Given the description of an element on the screen output the (x, y) to click on. 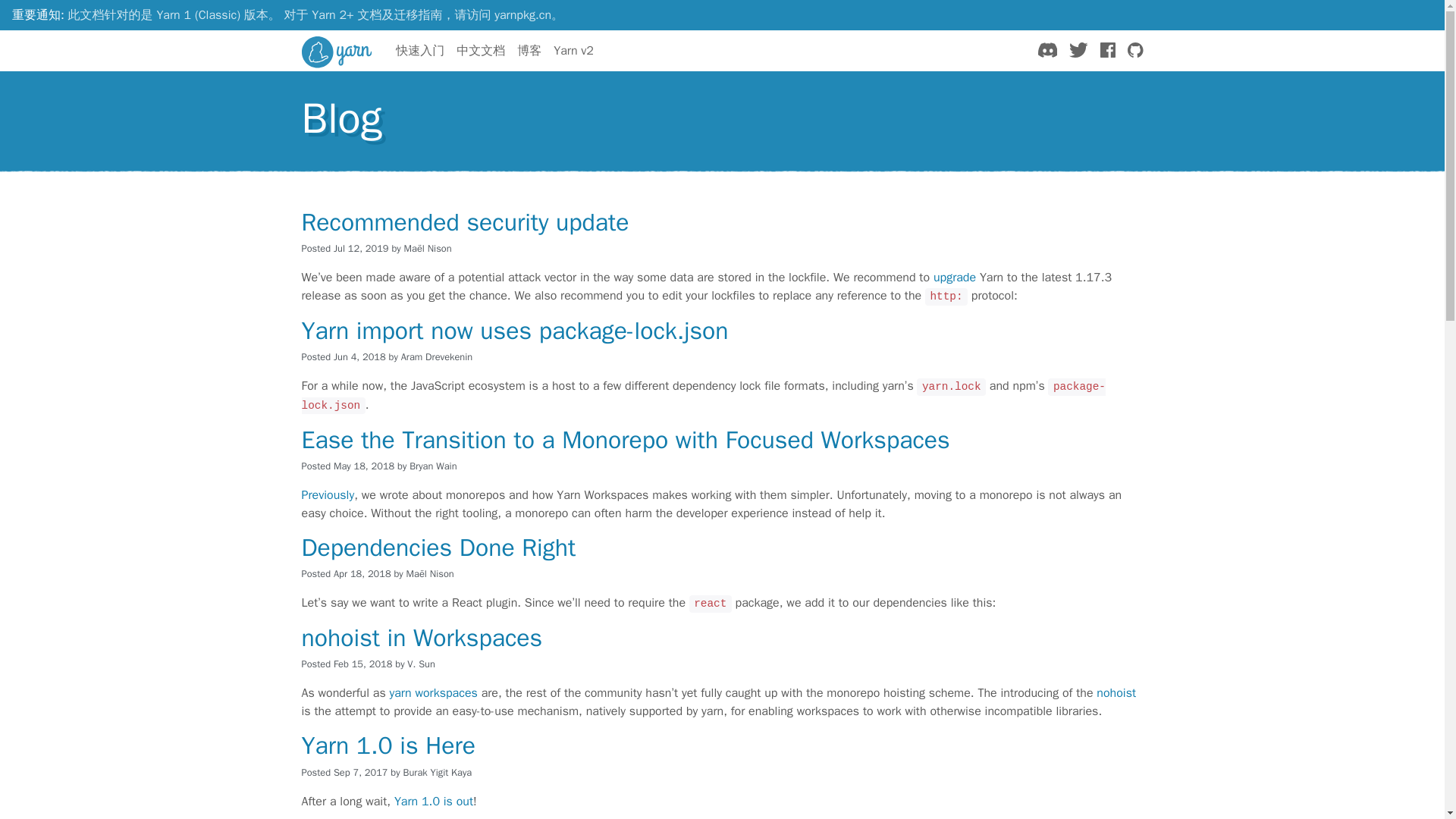
yarn workspaces (433, 693)
GitHub (1134, 49)
Facebook (1107, 49)
nohoist (1115, 693)
Discord (1047, 49)
Yarn import now uses package-lock.json (515, 330)
Ease the Transition to a Monorepo with Focused Workspaces (625, 440)
Yarn 1.0 is out (433, 801)
Previously (328, 494)
upgrade (954, 277)
